Given the description of an element on the screen output the (x, y) to click on. 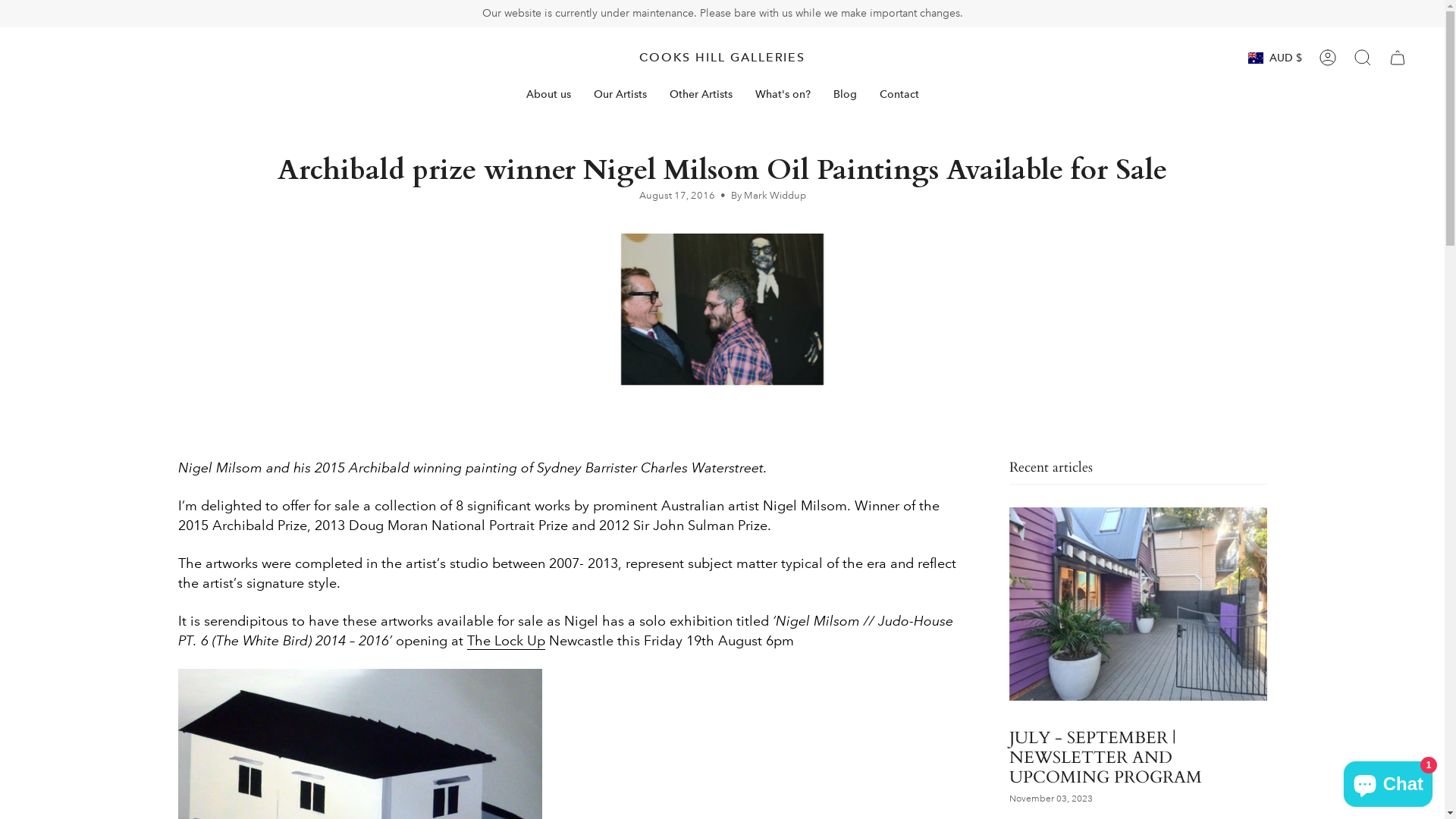
AUD $ Element type: text (1274, 57)
Shopify online store chat Element type: hover (1388, 780)
Contact Element type: text (898, 94)
About us Element type: text (547, 94)
What's on? Element type: text (782, 94)
Other Artists Element type: text (700, 94)
Cart Element type: text (1397, 57)
COOKS HILL GALLERIES Element type: text (722, 57)
JULY - SEPTEMBER | NEWSLETTER AND UPCOMING PROGRAM Element type: text (1104, 757)
The Lock Up Element type: text (506, 642)
Blog Element type: text (845, 94)
Account Element type: text (1327, 57)
Our Artists Element type: text (620, 94)
